Given the description of an element on the screen output the (x, y) to click on. 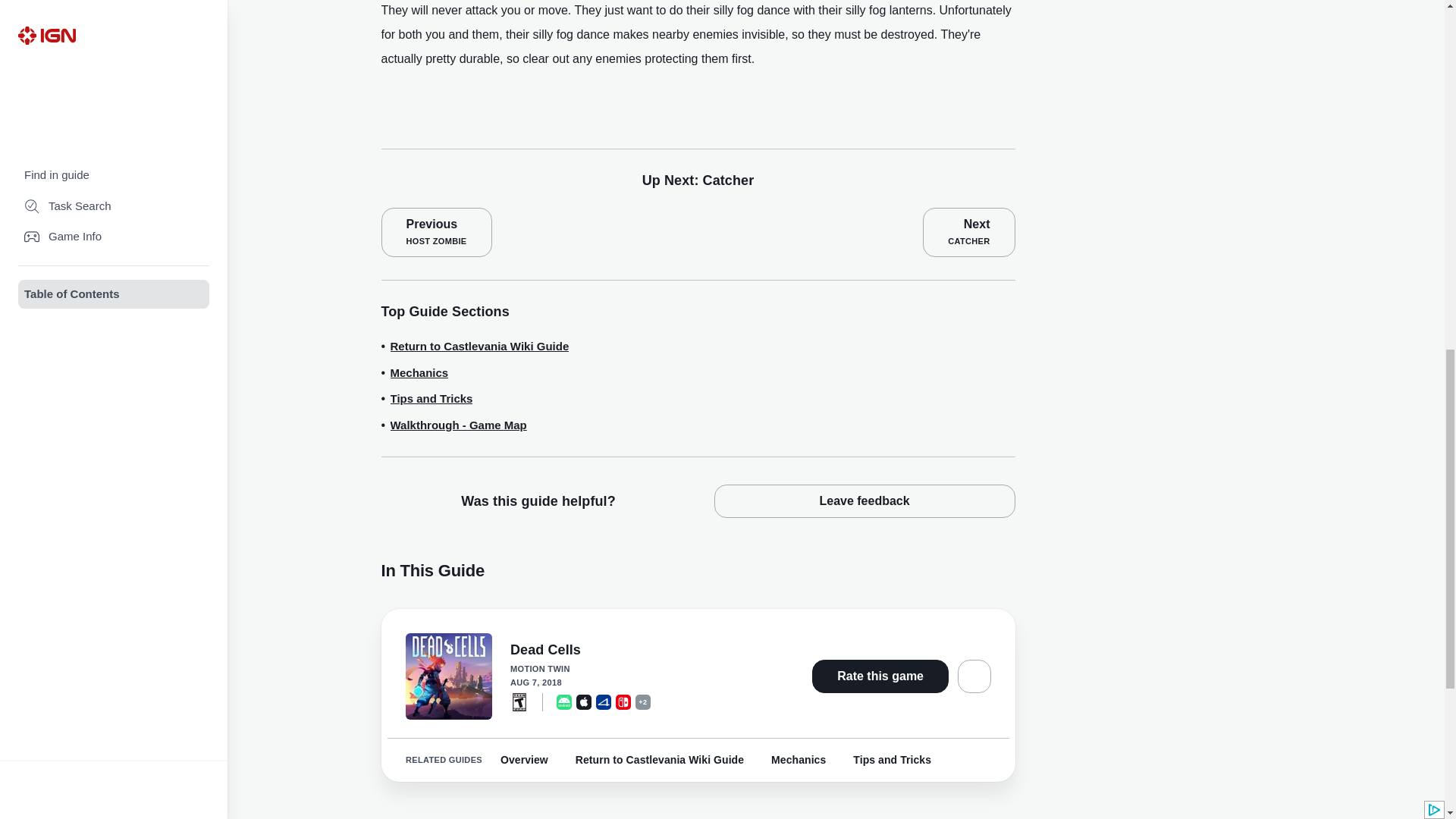
Nintendo Switch (622, 701)
Android (564, 701)
iPhone (583, 701)
ESRB: Teen (518, 701)
PlayStation 4 (603, 701)
